Given the description of an element on the screen output the (x, y) to click on. 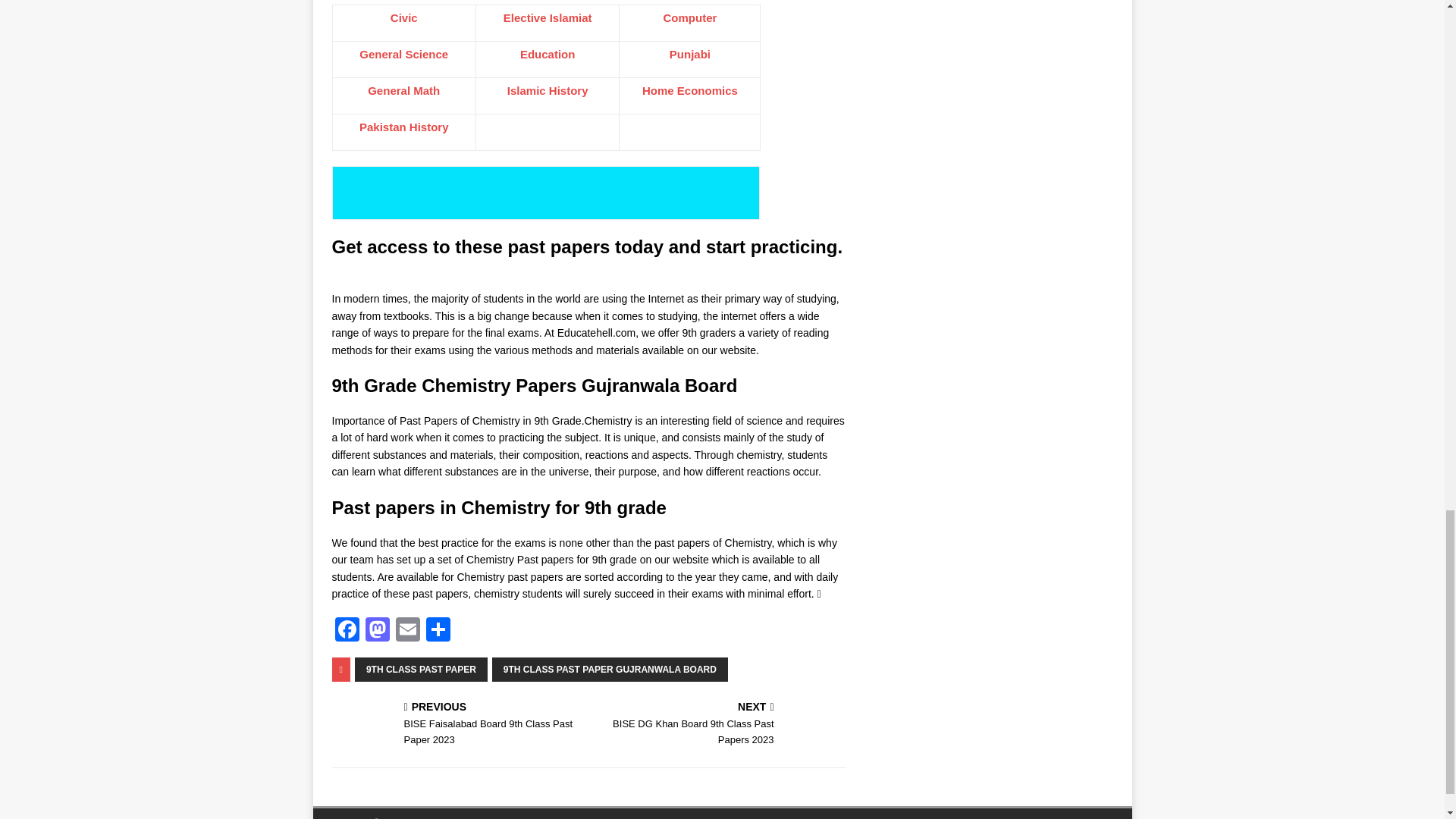
Facebook (346, 631)
Email (408, 631)
Mastodon (377, 631)
